Given the description of an element on the screen output the (x, y) to click on. 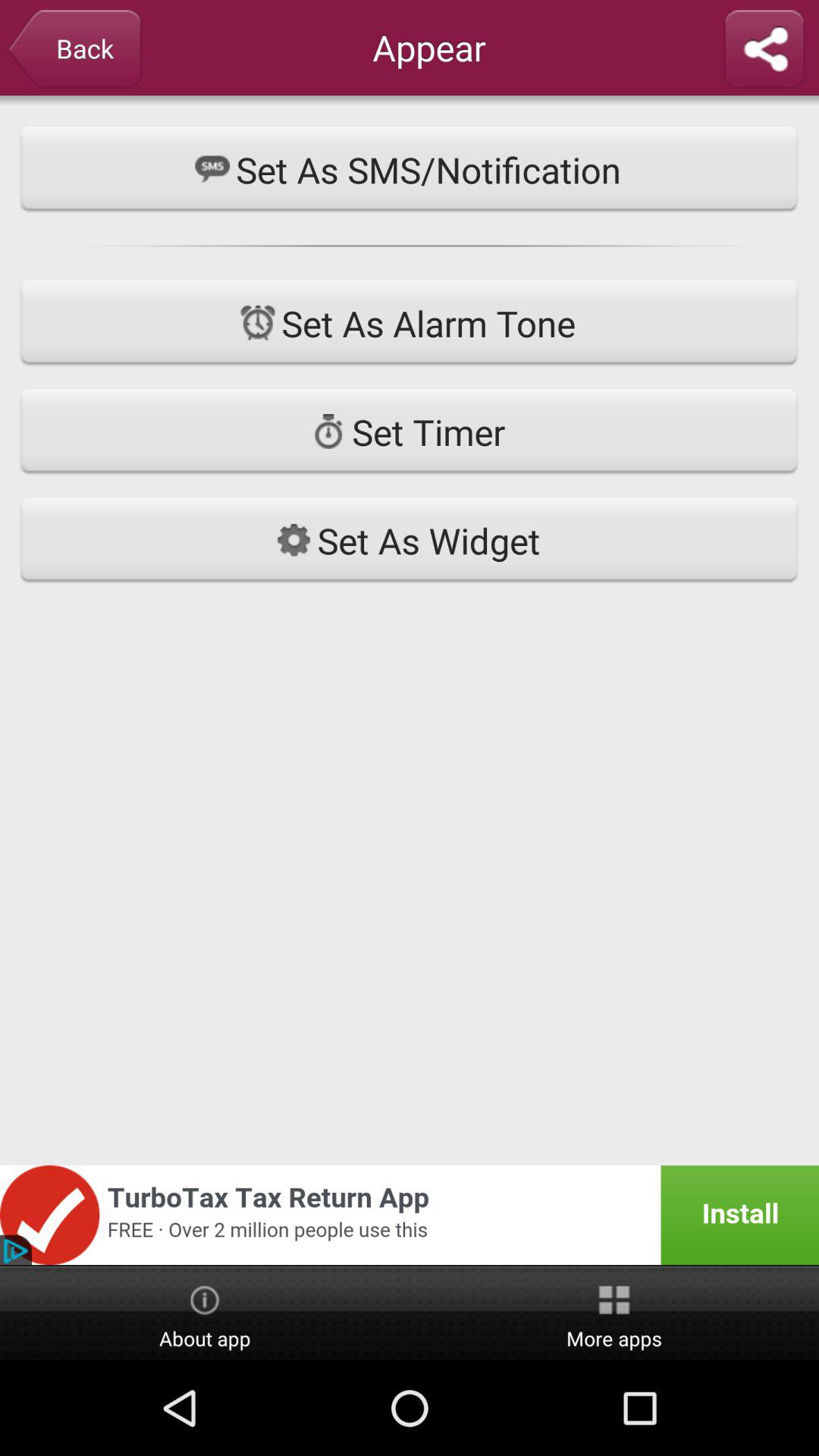
share option (764, 50)
